Given the description of an element on the screen output the (x, y) to click on. 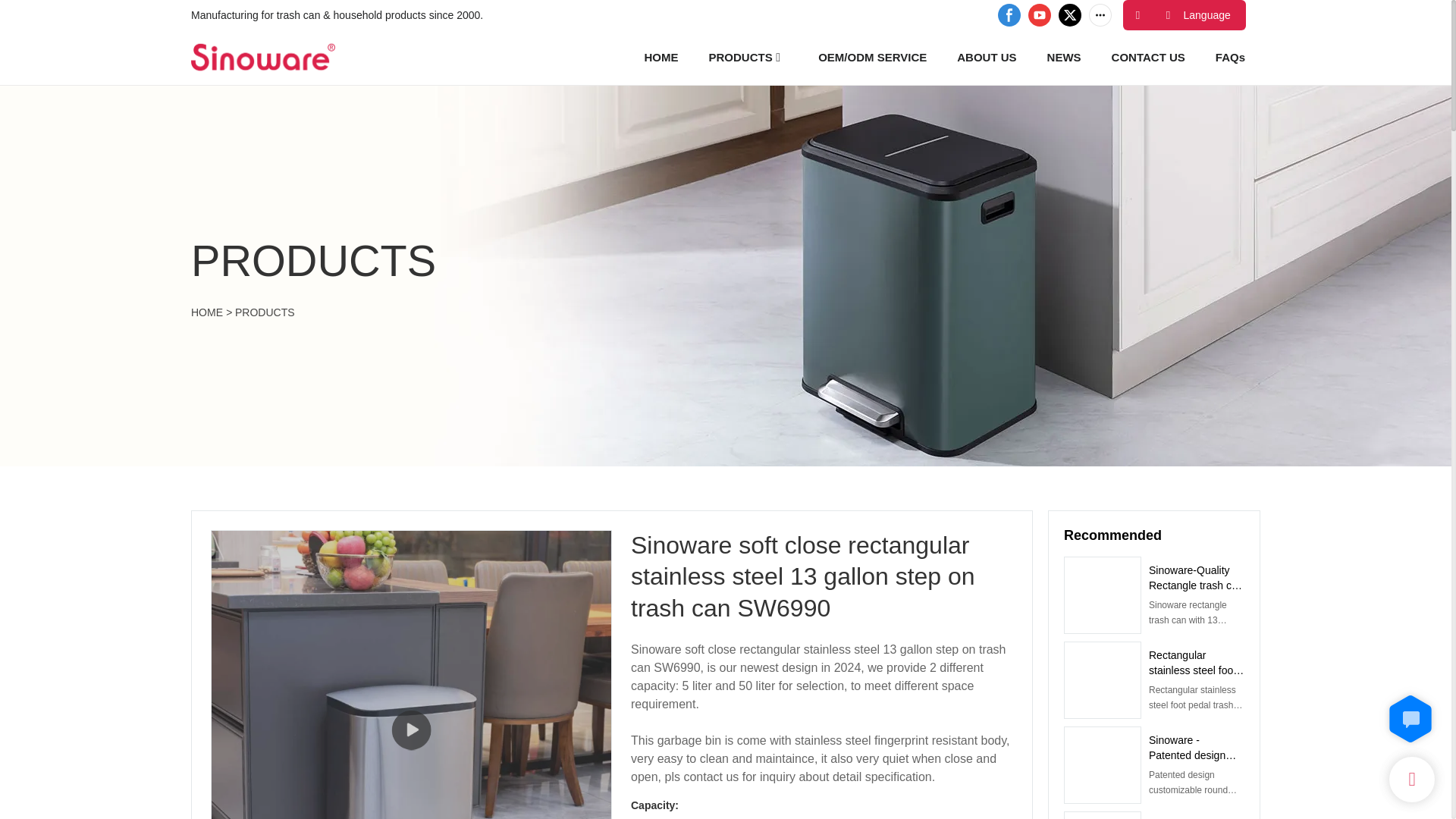
ABOUT US (986, 56)
HOME (661, 56)
CONTACT US (1148, 56)
PRODUCTS (741, 56)
facebook (1009, 15)
youtube (1039, 15)
FAQs (1229, 56)
NEWS (1063, 56)
twitter (1069, 15)
